Given the description of an element on the screen output the (x, y) to click on. 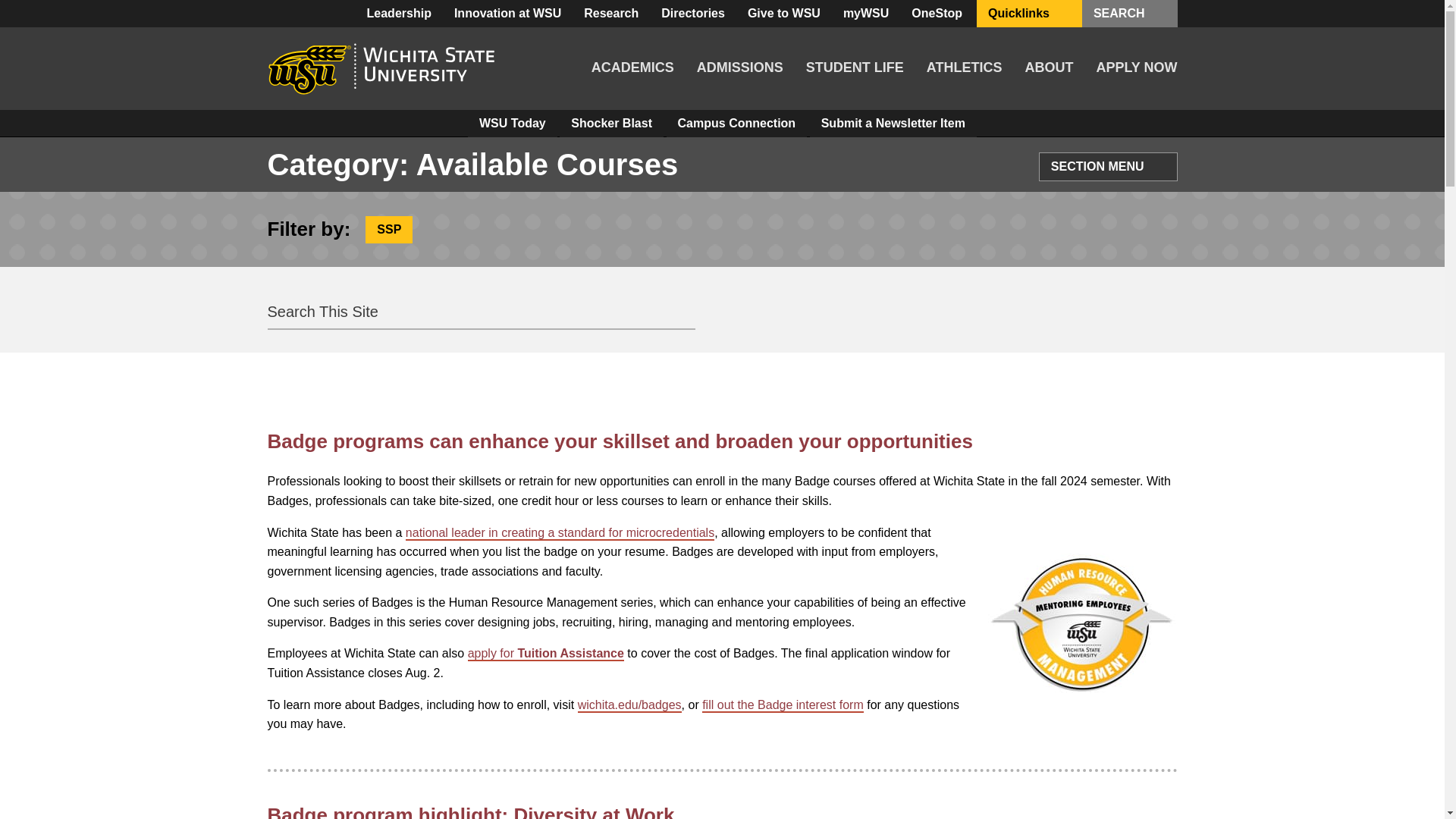
Open Search (1159, 13)
Open Section Links (1157, 166)
Quicklinks (1028, 13)
OneStop (936, 13)
Open Quicklinks (1063, 13)
Innovation at WSU (507, 13)
myWSU (865, 13)
Research (610, 13)
Directories (692, 13)
Give to WSU (783, 13)
Leadership (398, 13)
